Given the description of an element on the screen output the (x, y) to click on. 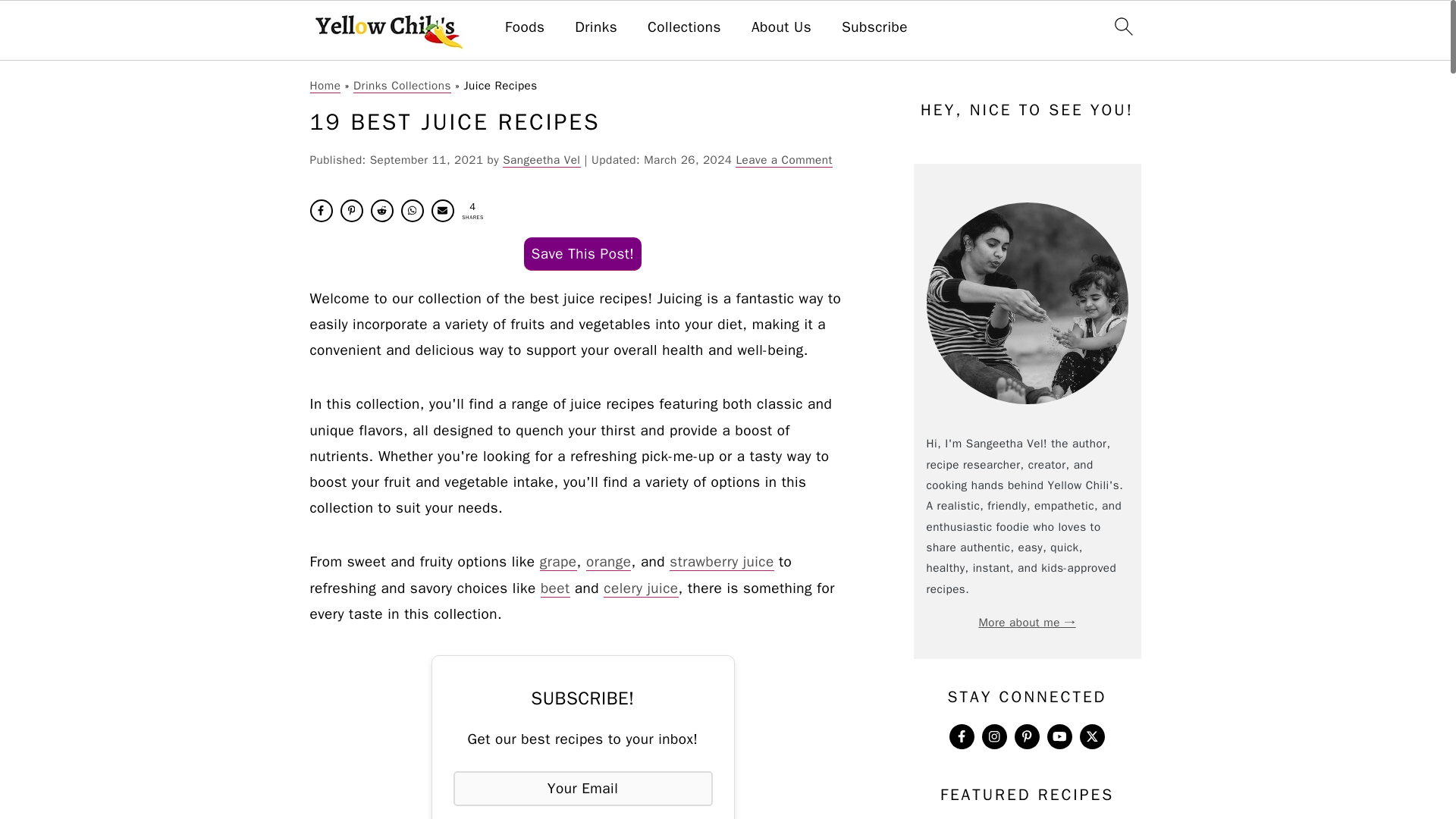
Drinks (596, 27)
Sangeetha Vel (540, 159)
search icon (1122, 26)
Foods (524, 27)
Leave a Comment (783, 159)
orange (608, 561)
Drinks Collections (402, 85)
Home (324, 85)
grape (558, 561)
